Given the description of an element on the screen output the (x, y) to click on. 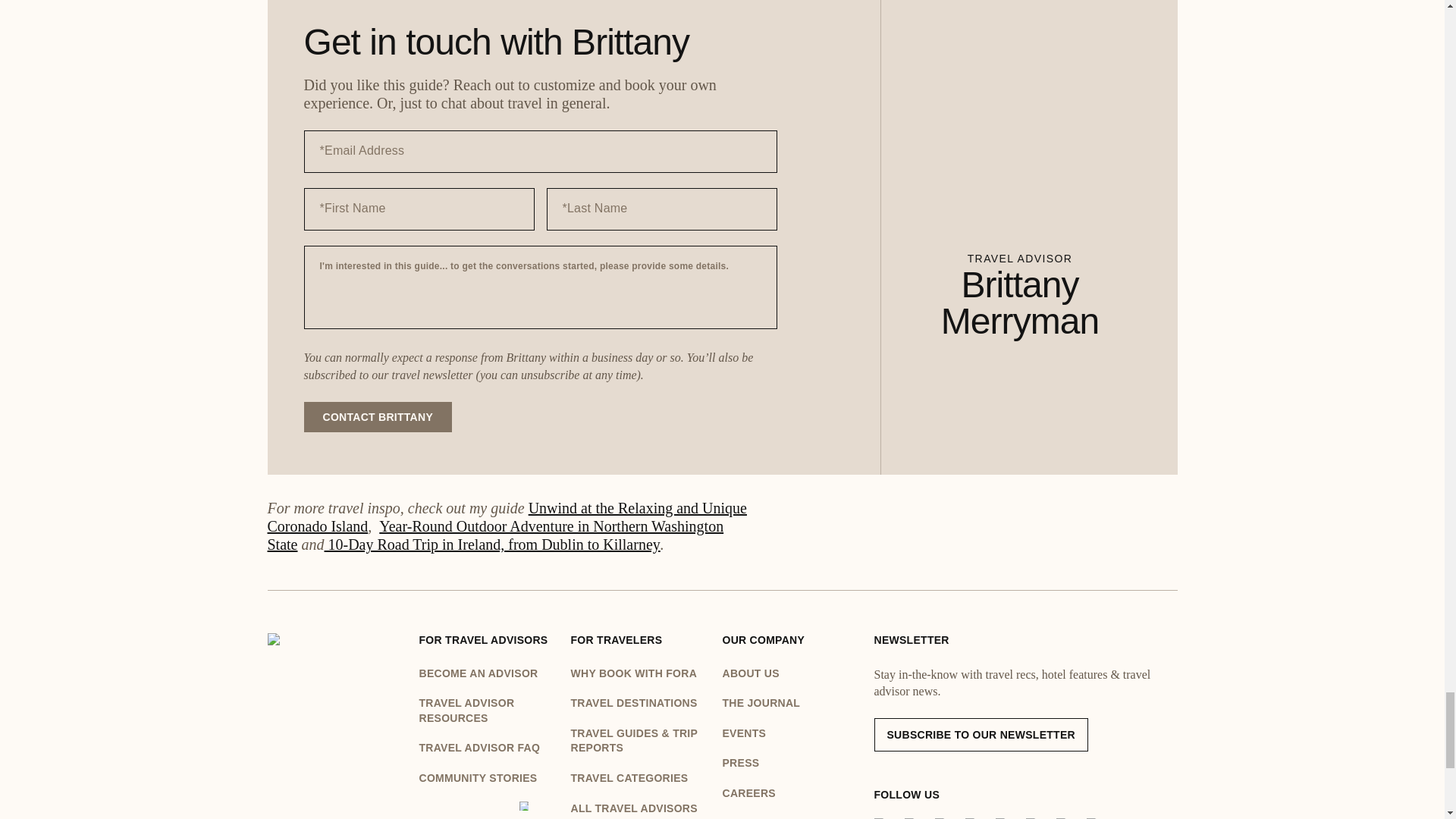
ADVISOR PORTAL (486, 810)
COMMUNITY STORIES (486, 778)
Year-Round Outdoor Adventure in Northern Washington State (494, 534)
 10-Day Road Trip in Ireland, from Dublin to Killarney (492, 544)
CONTACT BRITTANY (376, 417)
TRAVEL ADVISOR FAQ (486, 748)
TRAVEL DESTINATIONS (638, 703)
BECOME AN ADVISOR (486, 673)
ALL TRAVEL ADVISORS (638, 808)
TRAVEL ADVISOR RESOURCES (486, 710)
TRAVEL CATEGORIES (638, 778)
Unwind at the Relaxing and Unique Coronado Island (505, 516)
WHY BOOK WITH FORA (638, 673)
